Given the description of an element on the screen output the (x, y) to click on. 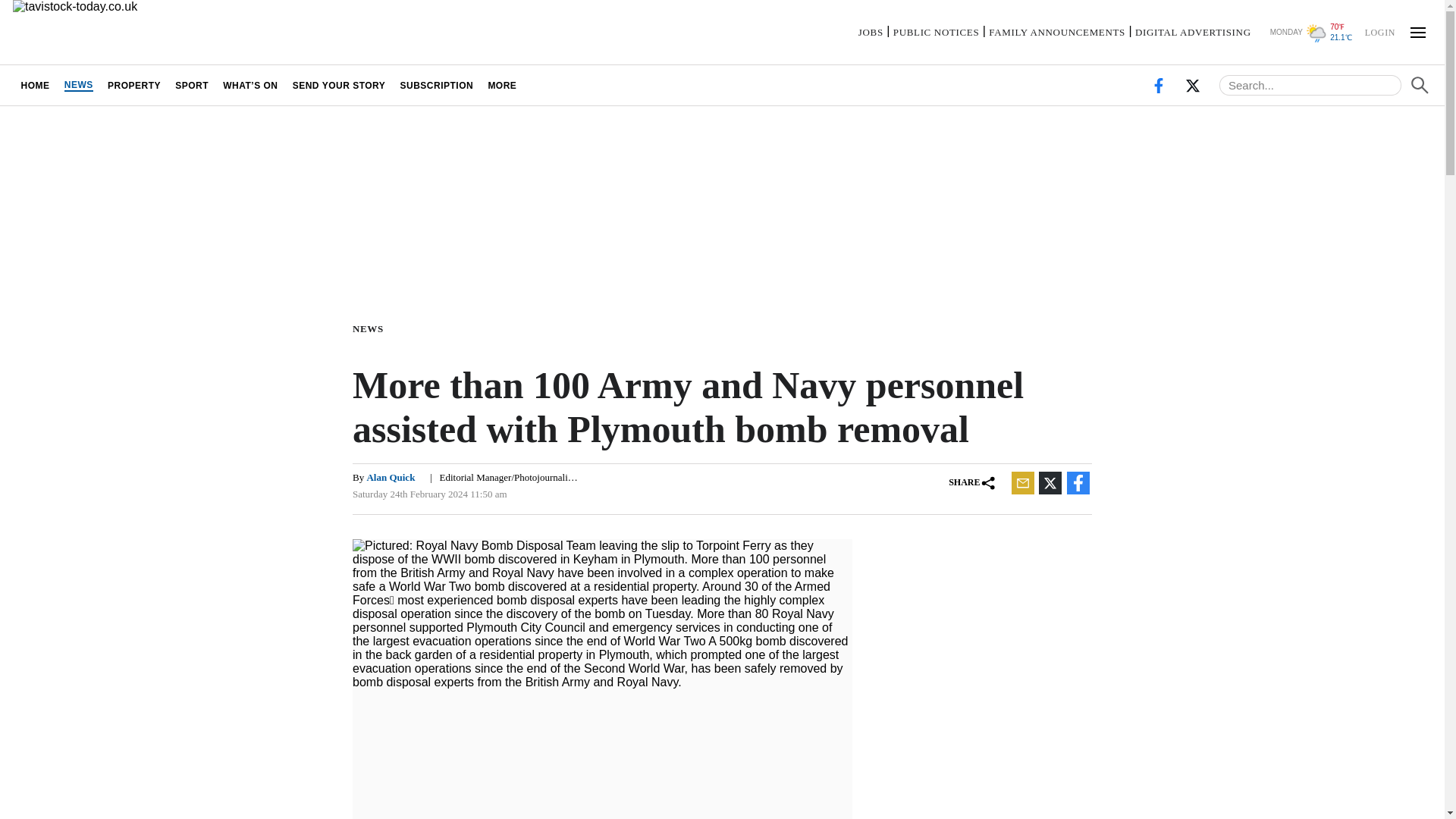
SUBSCRIPTION (436, 85)
SPORT (191, 85)
NEWS (371, 328)
MORE (502, 85)
NEWS (78, 85)
SEND YOUR STORY (339, 85)
DIGITAL ADVERTISING (1192, 32)
PROPERTY (133, 85)
Alan Quick (390, 477)
HOME (34, 85)
